Given the description of an element on the screen output the (x, y) to click on. 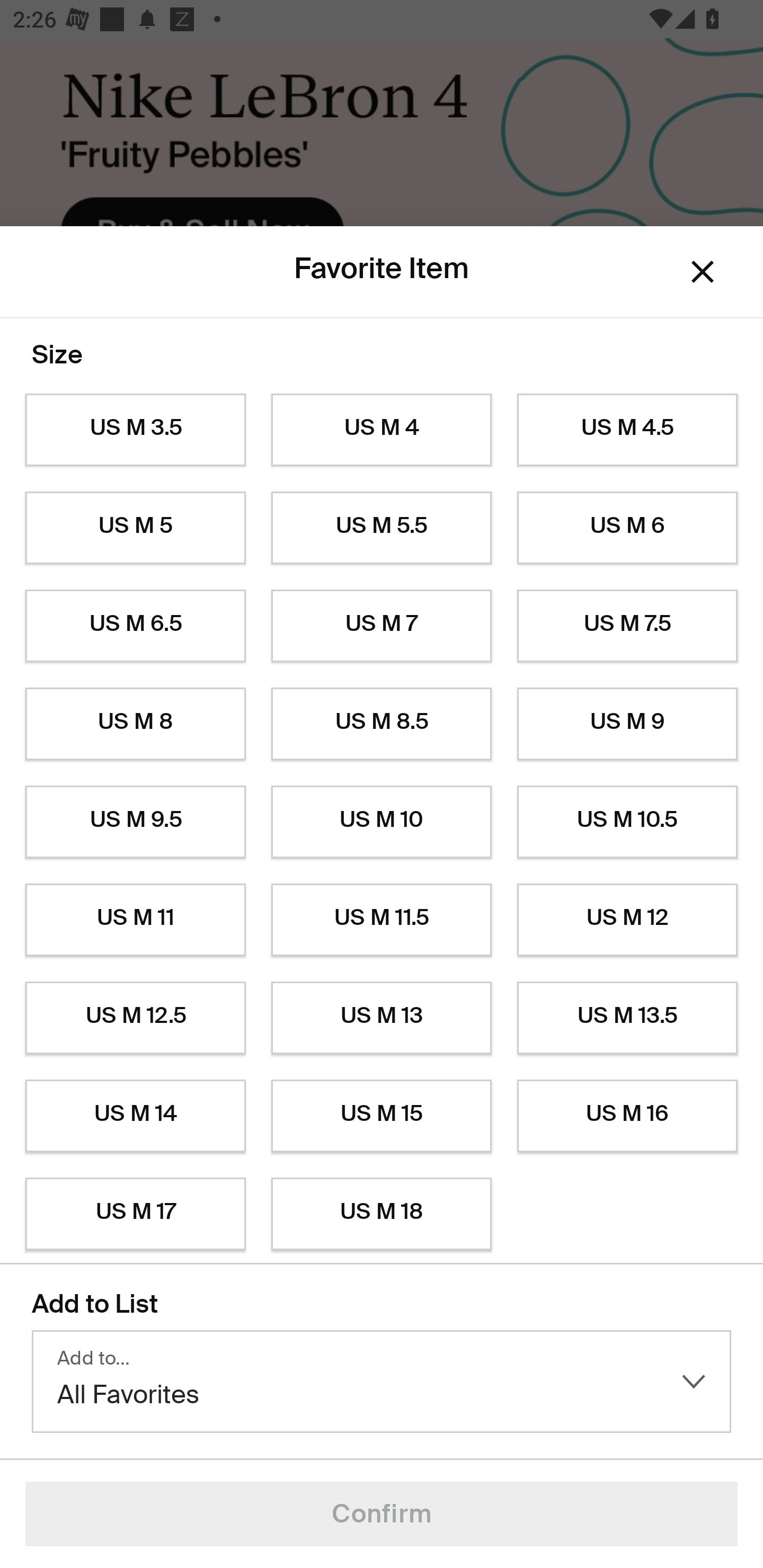
Dismiss (702, 271)
US M 3.5 (135, 430)
US M 4 (381, 430)
US M 4.5 (627, 430)
US M 5 (135, 527)
US M 5.5 (381, 527)
US M 6 (627, 527)
US M 6.5 (135, 626)
US M 7 (381, 626)
US M 7.5 (627, 626)
US M 8 (135, 724)
US M 8.5 (381, 724)
US M 9 (627, 724)
US M 9.5 (135, 822)
US M 10 (381, 822)
US M 10.5 (627, 822)
US M 11 (135, 919)
US M 11.5 (381, 919)
US M 12 (627, 919)
US M 12.5 (135, 1018)
US M 13 (381, 1018)
US M 13.5 (627, 1018)
US M 14 (135, 1116)
US M 15 (381, 1116)
US M 16 (627, 1116)
US M 17 (135, 1214)
US M 18 (381, 1214)
Add to… All Favorites (381, 1381)
Confirm (381, 1513)
